Given the description of an element on the screen output the (x, y) to click on. 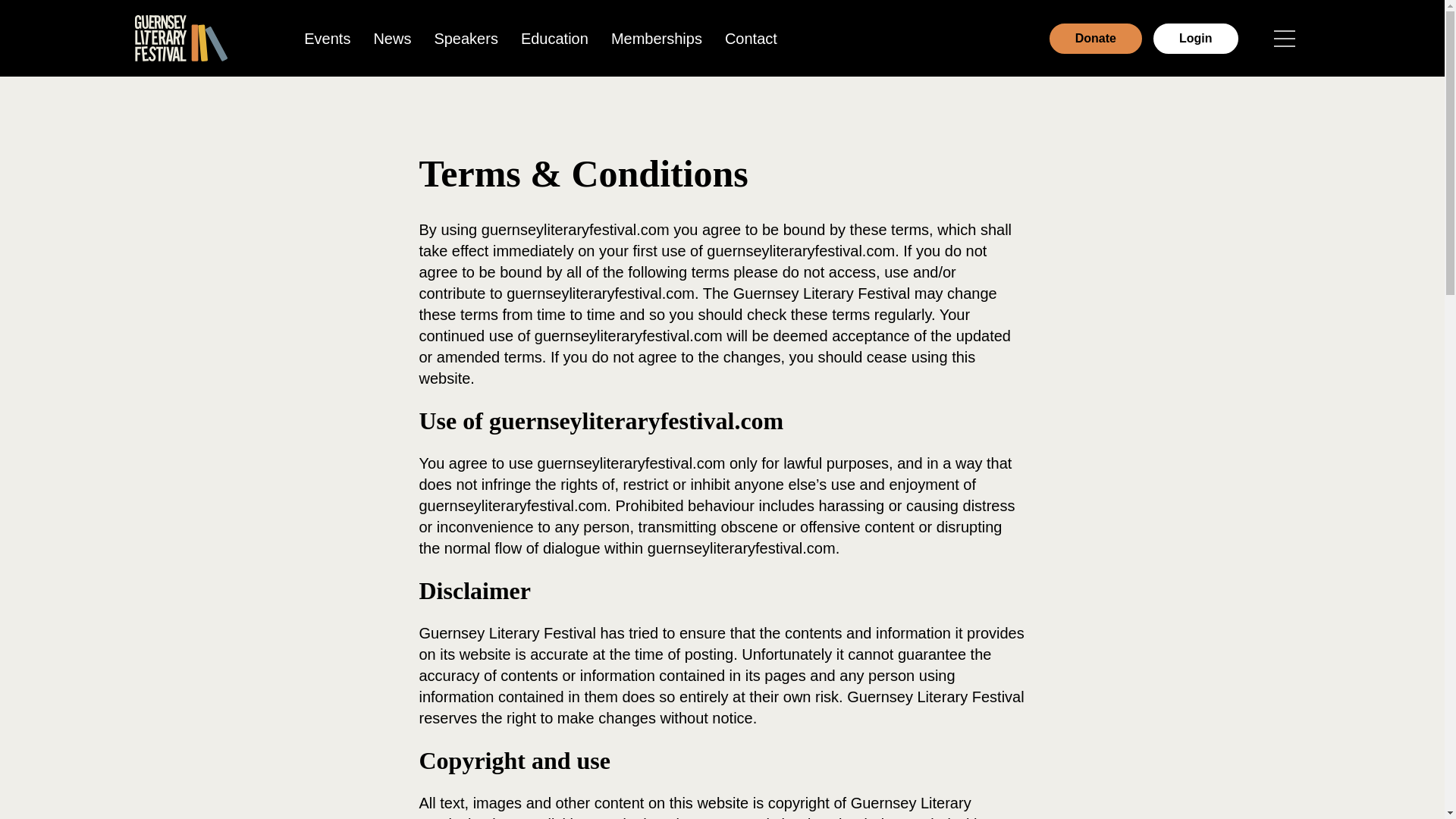
Donate (1095, 37)
Memberships (656, 37)
Contact (751, 37)
Education (554, 37)
Events (326, 37)
Speakers (465, 37)
Login (1196, 37)
News (391, 37)
